Given the description of an element on the screen output the (x, y) to click on. 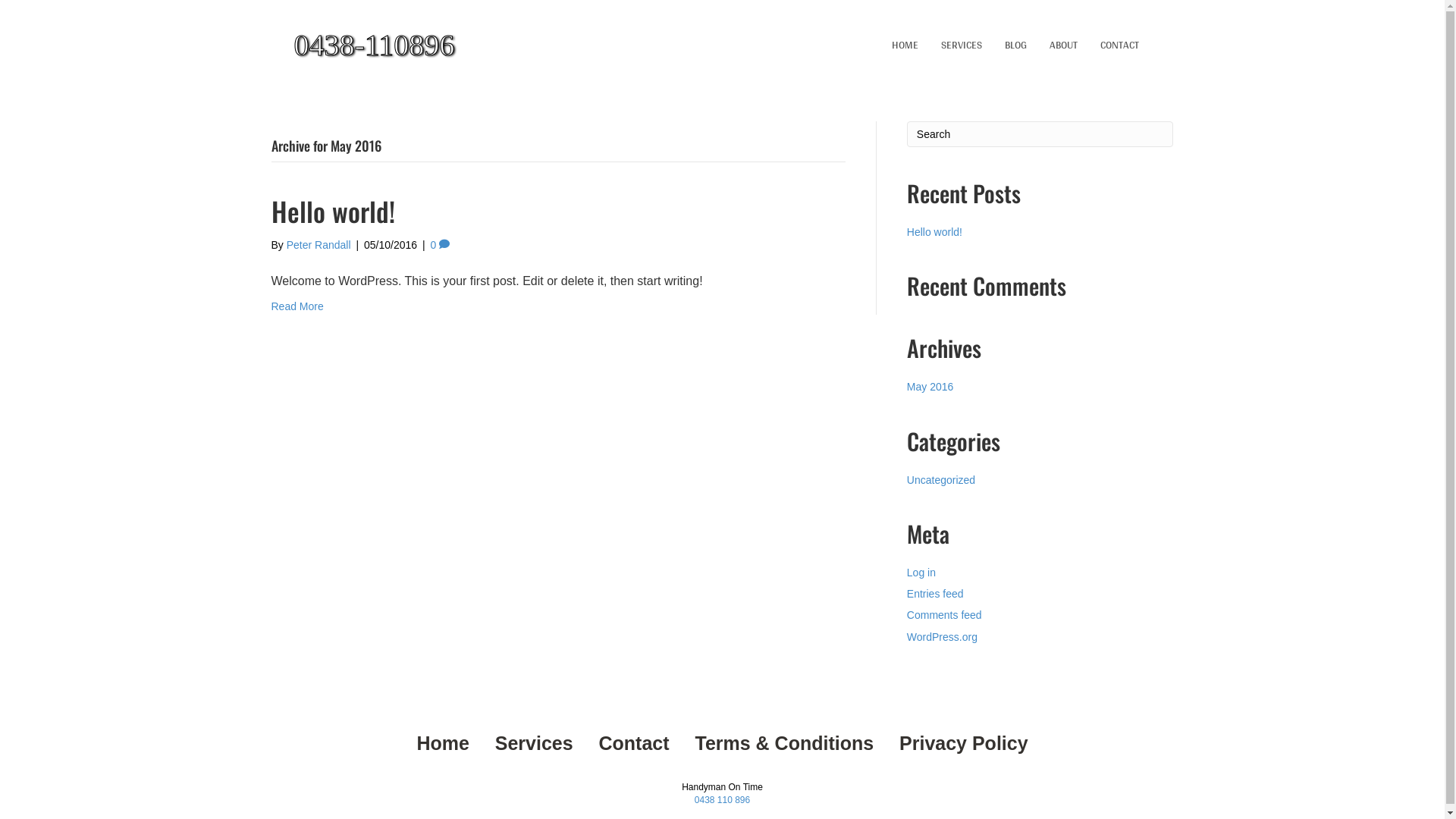
Hello world! Element type: text (934, 231)
Home Element type: text (442, 742)
CONTACT Element type: text (1119, 45)
0438-110896 Element type: text (431, 45)
Entries feed Element type: text (934, 593)
Terms & Conditions Element type: text (783, 742)
Privacy Policy Element type: text (963, 742)
May 2016 Element type: text (929, 386)
0 Element type: text (439, 244)
Uncategorized Element type: text (940, 479)
Services Element type: text (534, 742)
WordPress.org Element type: text (941, 636)
SERVICES Element type: text (961, 45)
BLOG Element type: text (1015, 45)
Peter Randall Element type: text (318, 244)
HOME Element type: text (904, 45)
Comments feed Element type: text (944, 614)
Read More Element type: text (297, 306)
Type and press Enter to search. Element type: hover (1039, 134)
Hello world! Element type: text (333, 210)
0438 110 896 Element type: text (721, 799)
Log in Element type: text (920, 572)
Contact Element type: text (634, 742)
ABOUT Element type: text (1063, 45)
